Given the description of an element on the screen output the (x, y) to click on. 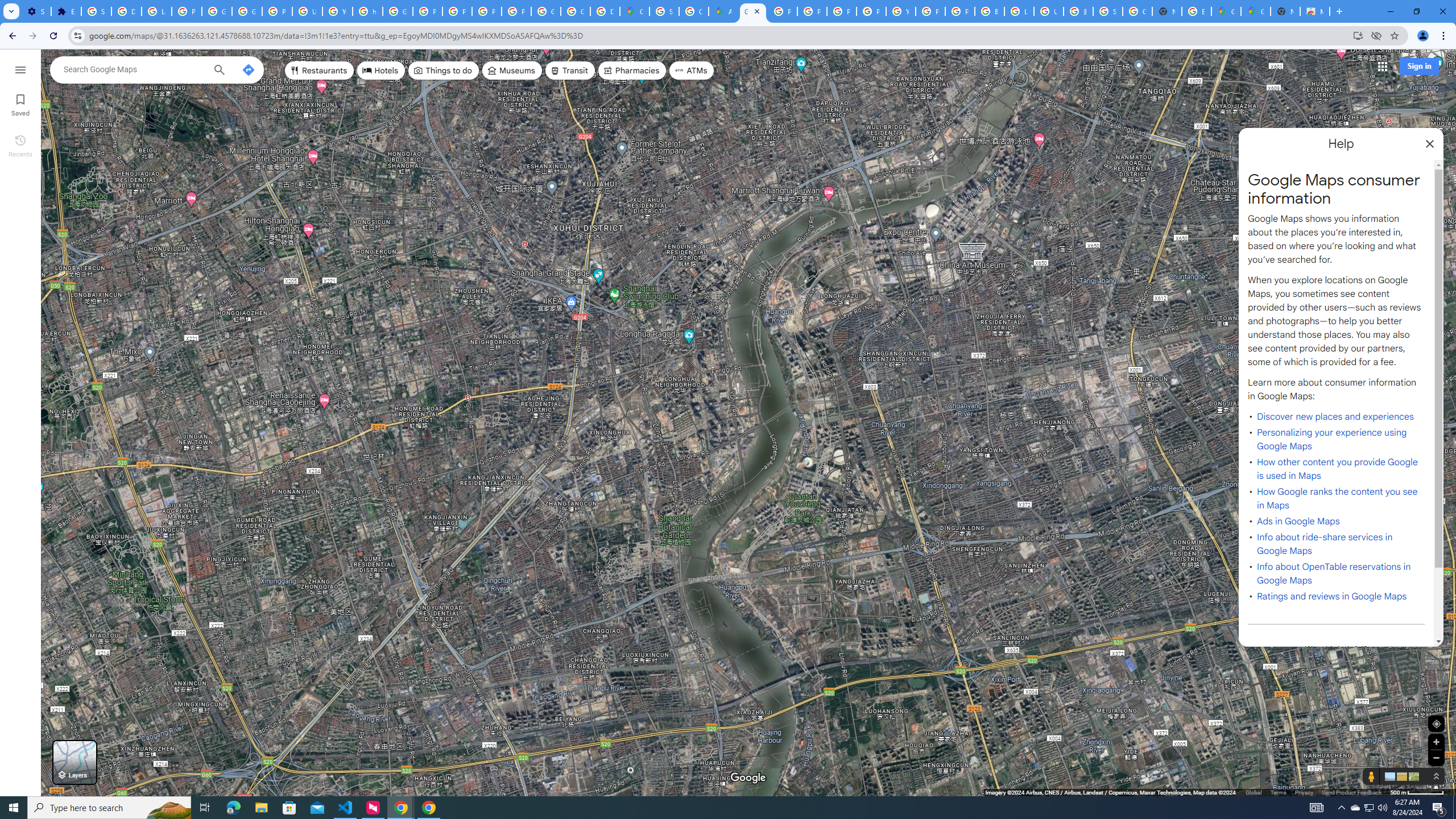
Show imagery (1412, 776)
New Tab (1284, 11)
Create your Google Account (693, 11)
Sign in - Google Accounts (1107, 11)
YouTube (337, 11)
500 m (1417, 792)
